Given the description of an element on the screen output the (x, y) to click on. 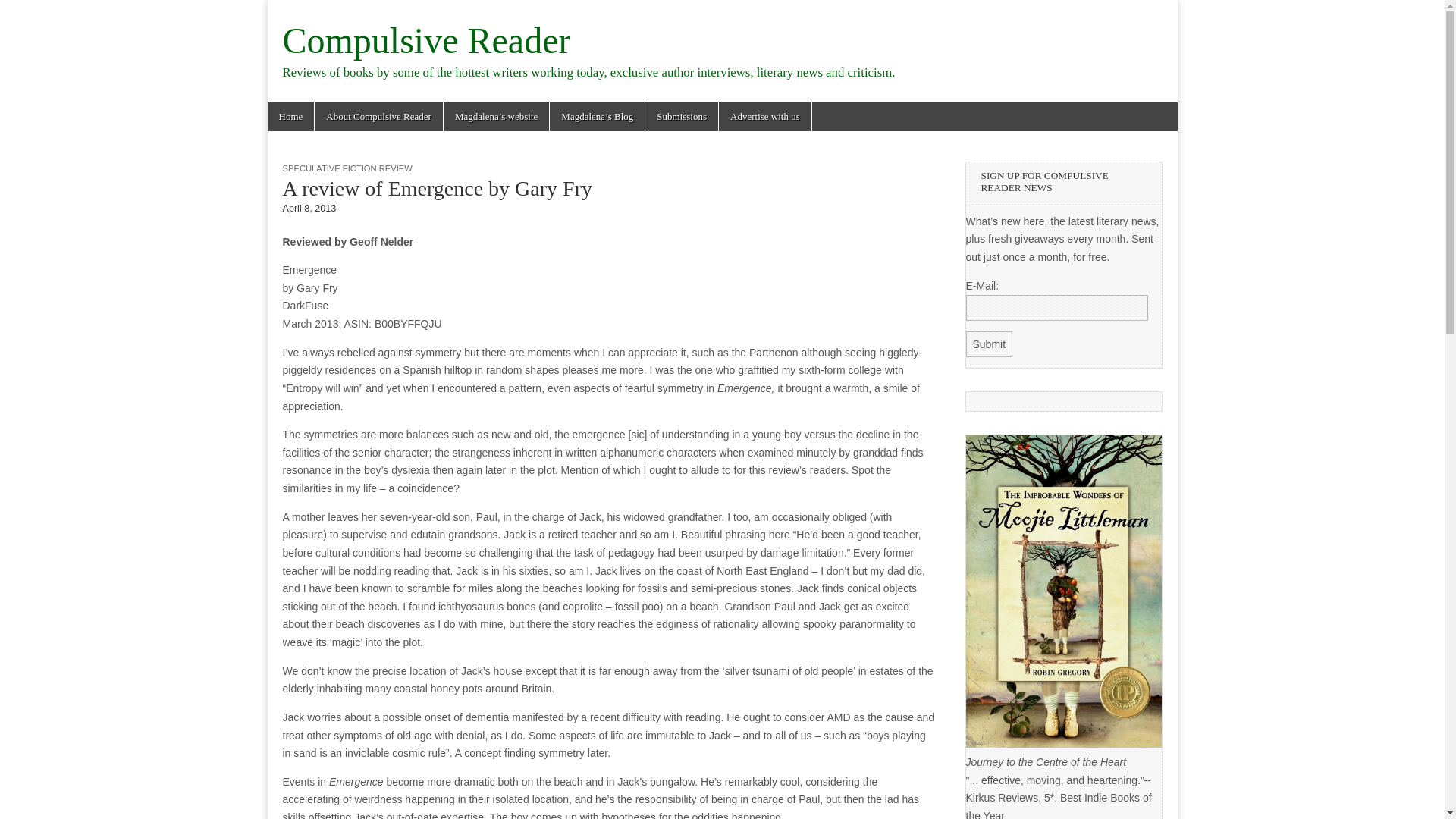
Advertise with us (764, 116)
SPECULATIVE FICTION REVIEW (347, 167)
Submissions (681, 116)
Home (290, 116)
About Compulsive Reader (378, 116)
Submit (989, 344)
Submit (989, 344)
Compulsive Reader (426, 40)
Compulsive Reader (426, 40)
Search (23, 12)
